Given the description of an element on the screen output the (x, y) to click on. 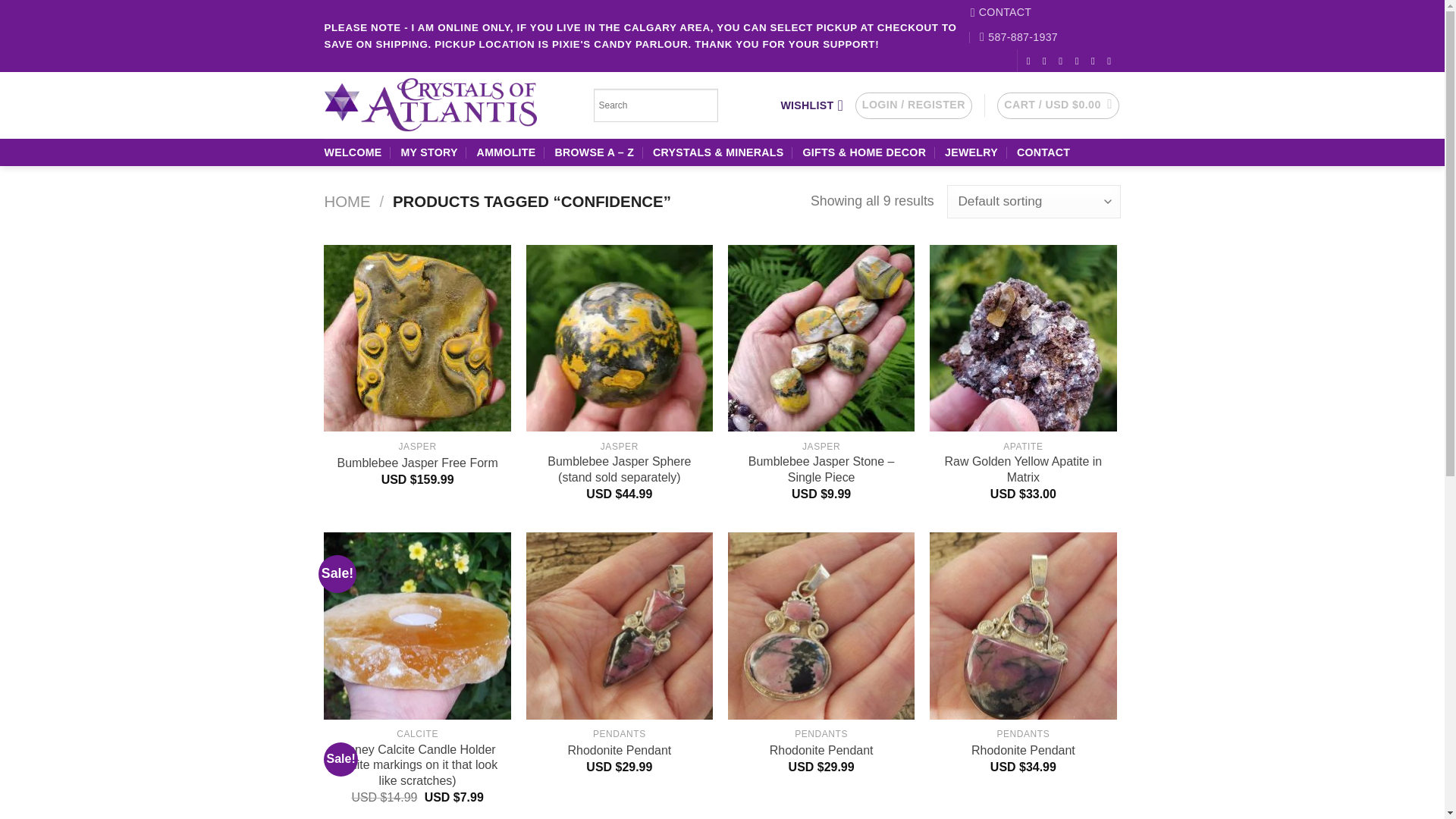
Login (914, 105)
CONTACT (1043, 152)
587-887-1937 (1018, 37)
HOME (347, 201)
WISHLIST (811, 105)
CONTACT (1001, 12)
AMMOLITE (506, 152)
WELCOME (352, 152)
587-887-1937 (1018, 37)
JEWELRY (970, 152)
Crystals of Atlantis (447, 105)
Cart (1058, 105)
MY STORY (428, 152)
Wishlist (811, 105)
Bumblebee Jasper Free Form (417, 463)
